Given the description of an element on the screen output the (x, y) to click on. 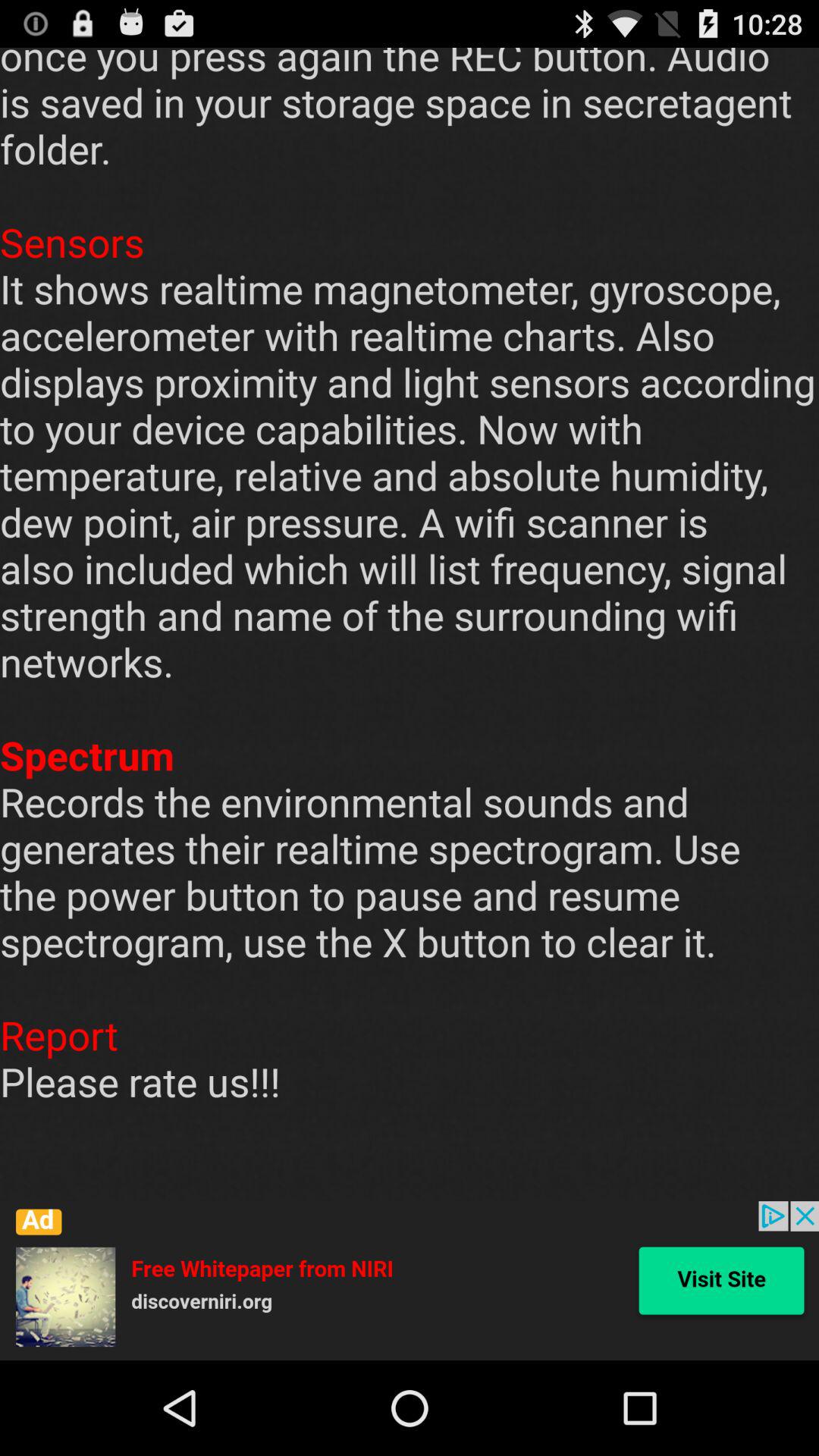
open advertisement (409, 1280)
